Given the description of an element on the screen output the (x, y) to click on. 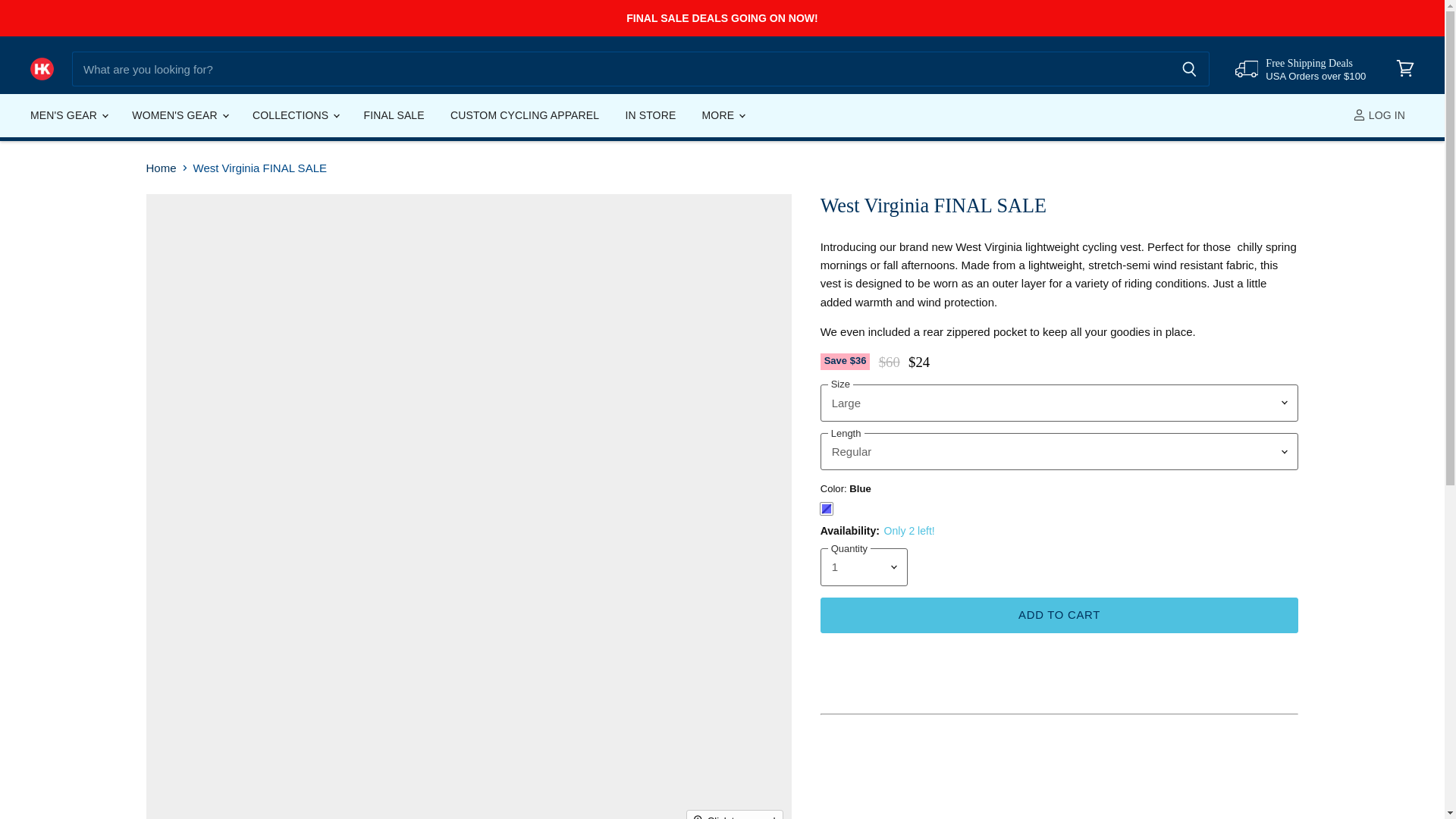
ACCOUNT ICON (1358, 114)
View cart (1405, 68)
Delivery icon (1245, 68)
MEN'S GEAR (67, 115)
